Given the description of an element on the screen output the (x, y) to click on. 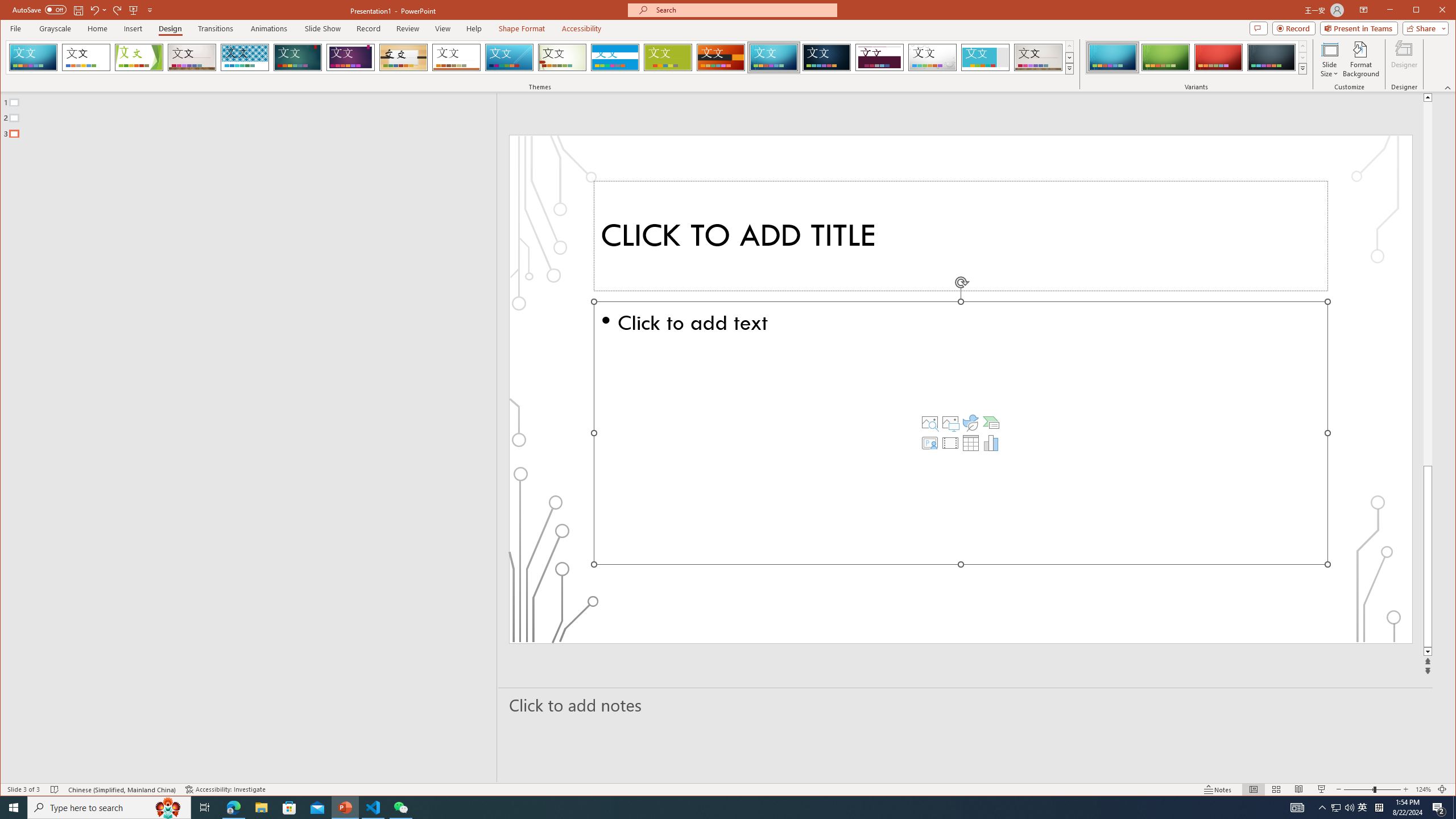
Dividend (879, 57)
Banded (615, 57)
Running applications (707, 807)
Insert a SmartArt Graphic (991, 422)
Ion (297, 57)
Office Theme (85, 57)
